Given the description of an element on the screen output the (x, y) to click on. 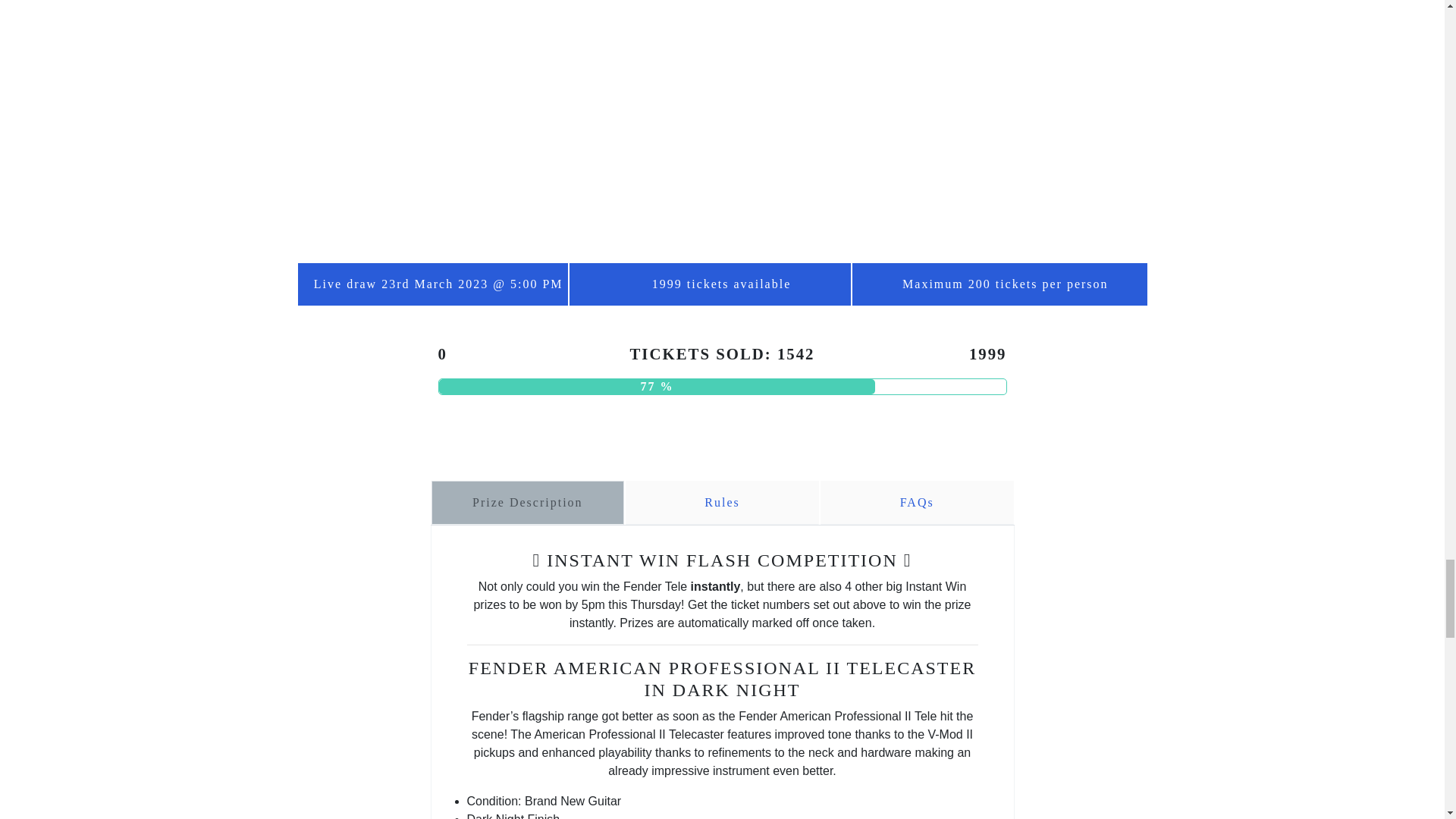
Prize Description (527, 502)
FAQs (917, 502)
Rules (722, 502)
